Given the description of an element on the screen output the (x, y) to click on. 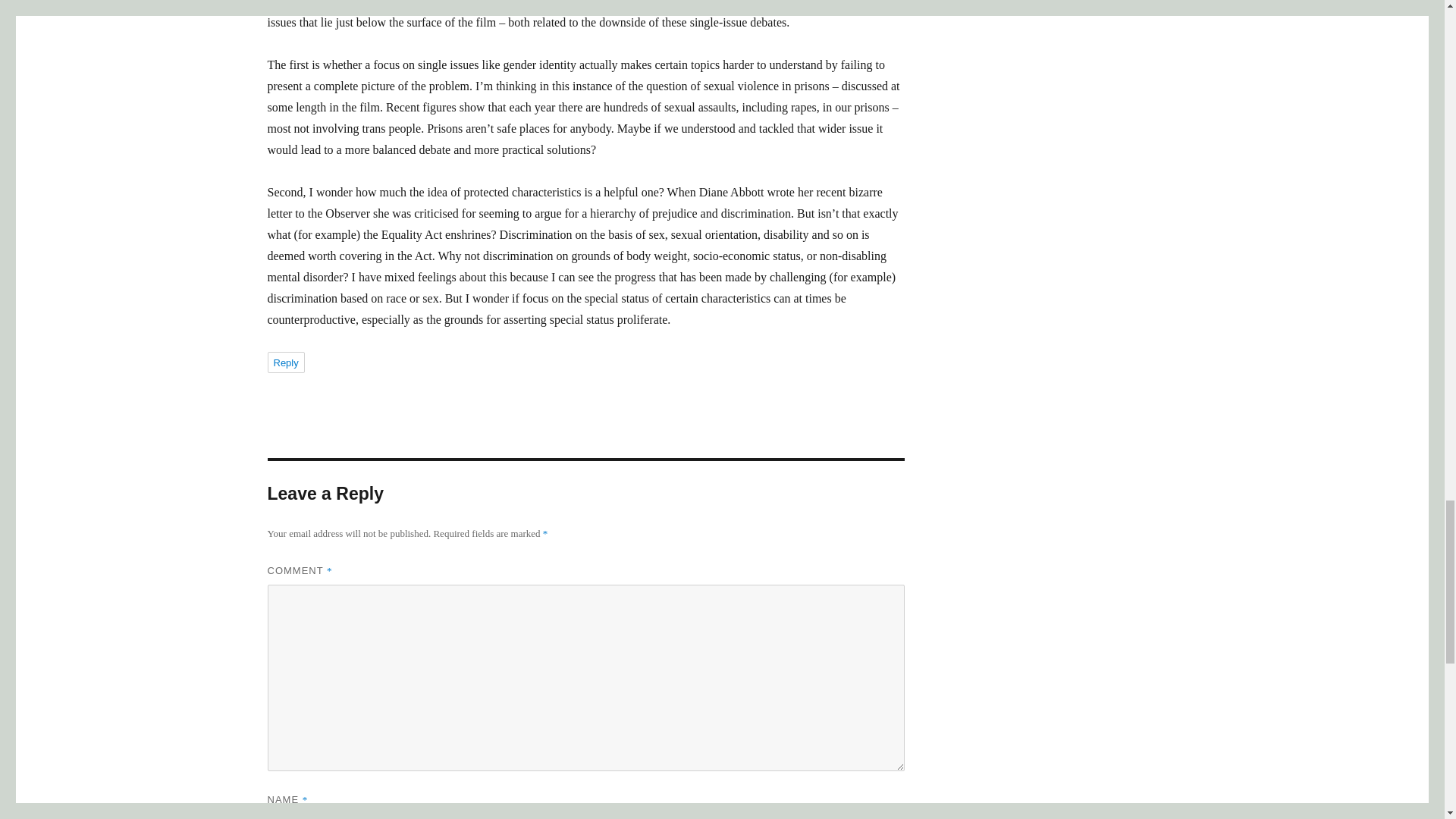
Reply (285, 362)
